Given the description of an element on the screen output the (x, y) to click on. 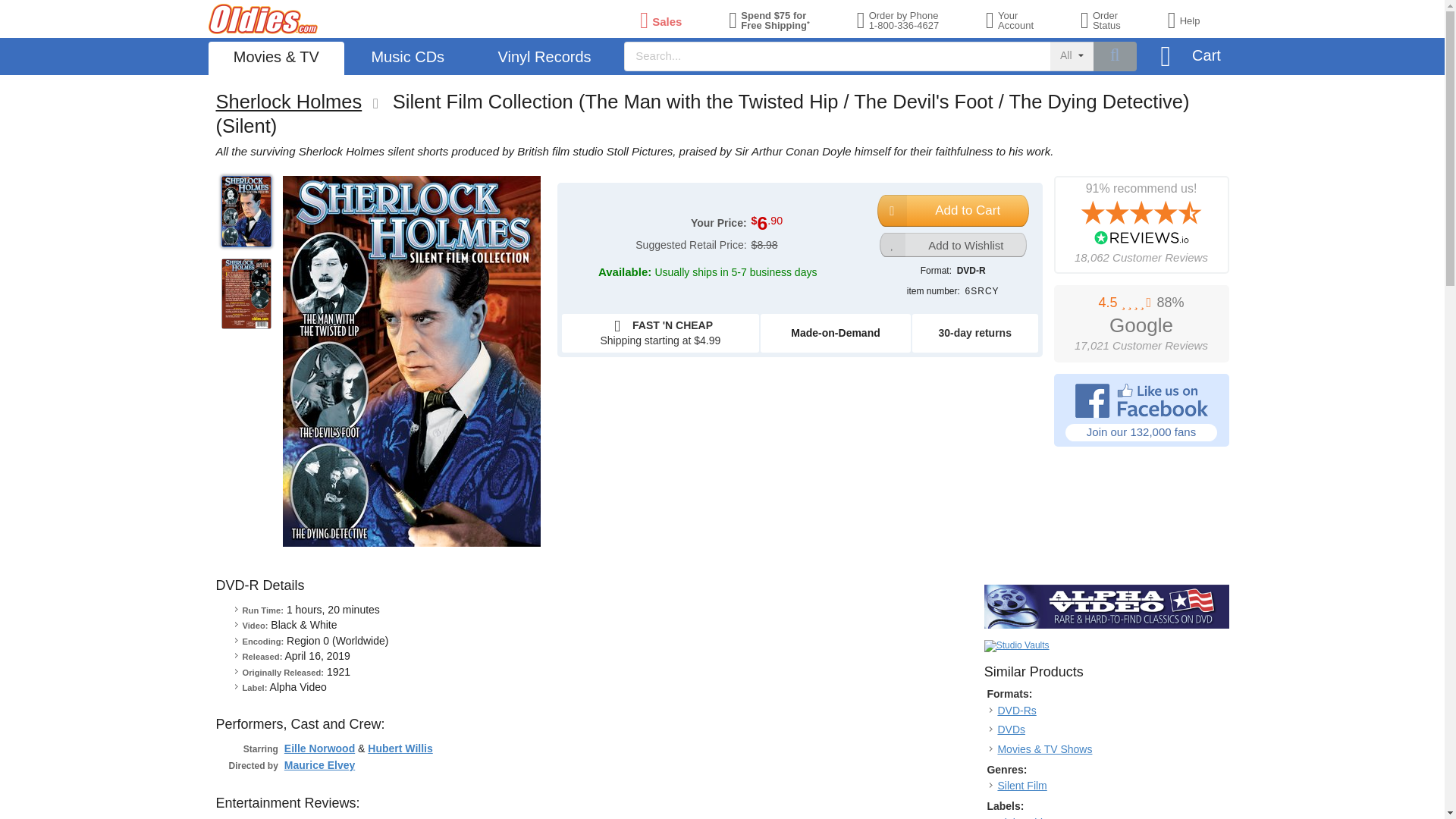
Hubert Willis (400, 748)
Maurice Elvey (319, 765)
Facebook LikeUs (1140, 410)
Join our 132,000 fans (1140, 410)
Sherlock Holmes (288, 101)
Eille Norwood (319, 748)
Music CDs (407, 58)
30-day returns (973, 331)
Cart (1189, 58)
Add to Cart (953, 210)
Nav Menu (722, 56)
Help (1200, 20)
Keywords (1026, 20)
Reviews (836, 56)
